Given the description of an element on the screen output the (x, y) to click on. 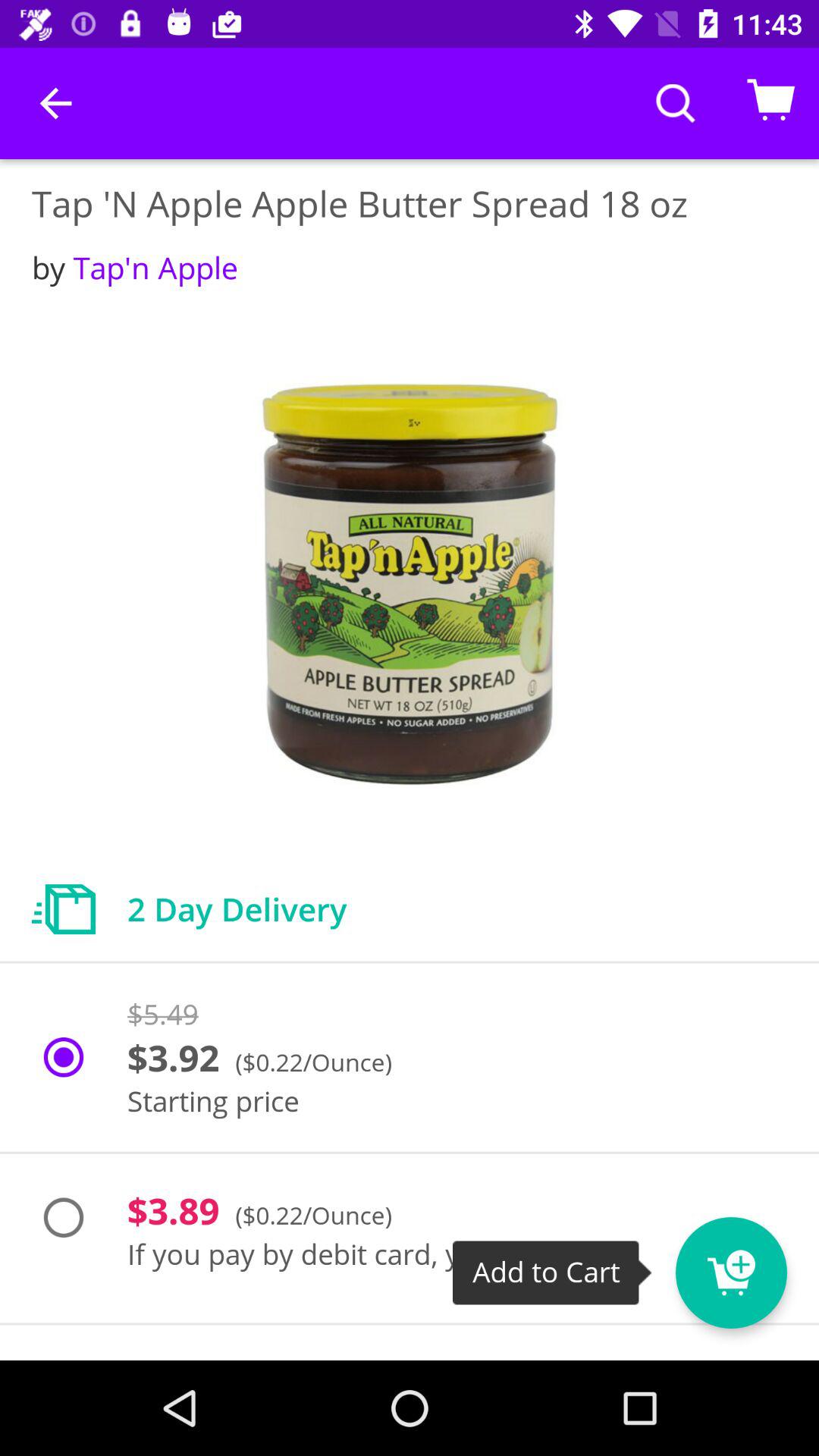
open by tap n icon (134, 267)
